Given the description of an element on the screen output the (x, y) to click on. 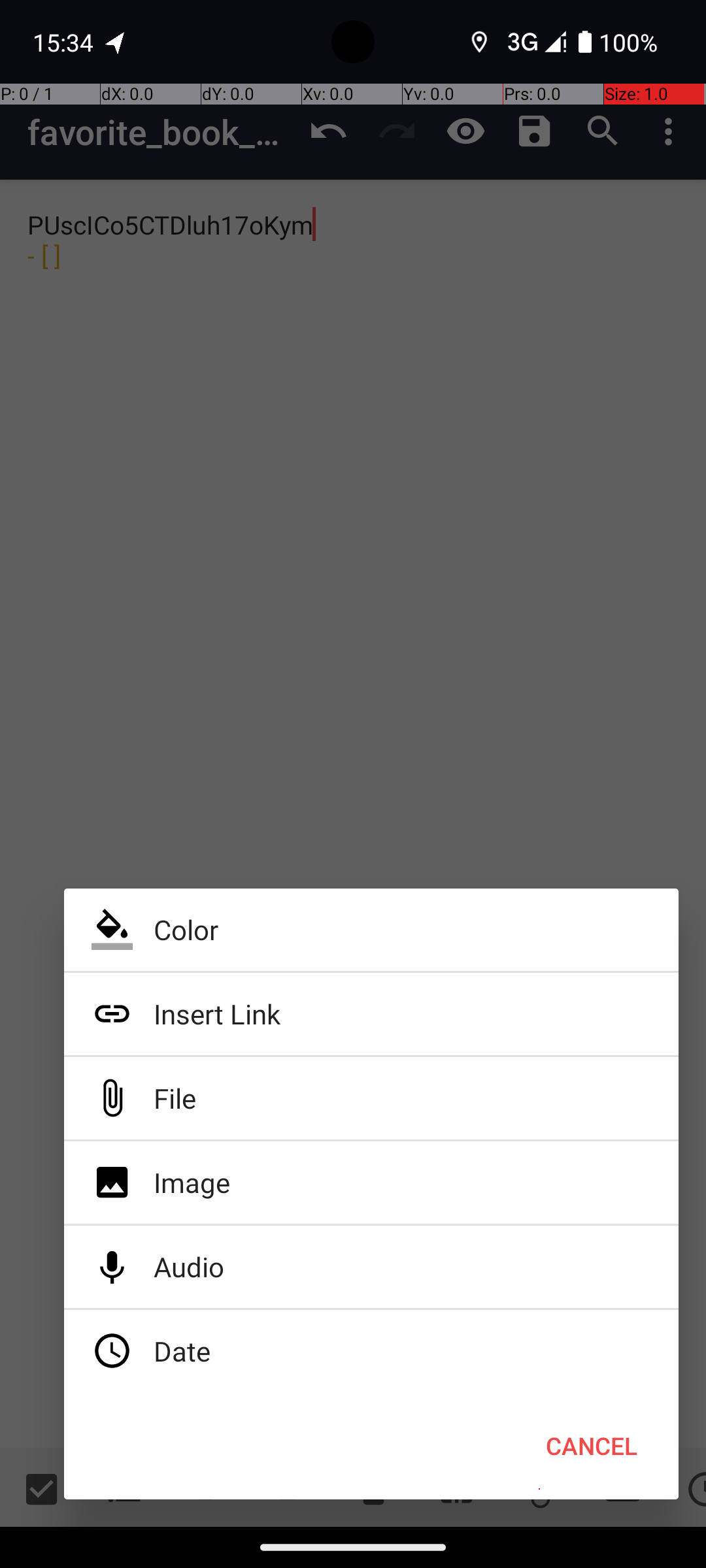
Color Element type: android.widget.TextView (371, 929)
Insert Link Element type: android.widget.TextView (371, 1013)
File Element type: android.widget.TextView (371, 1098)
Image Element type: android.widget.TextView (371, 1182)
